Given the description of an element on the screen output the (x, y) to click on. 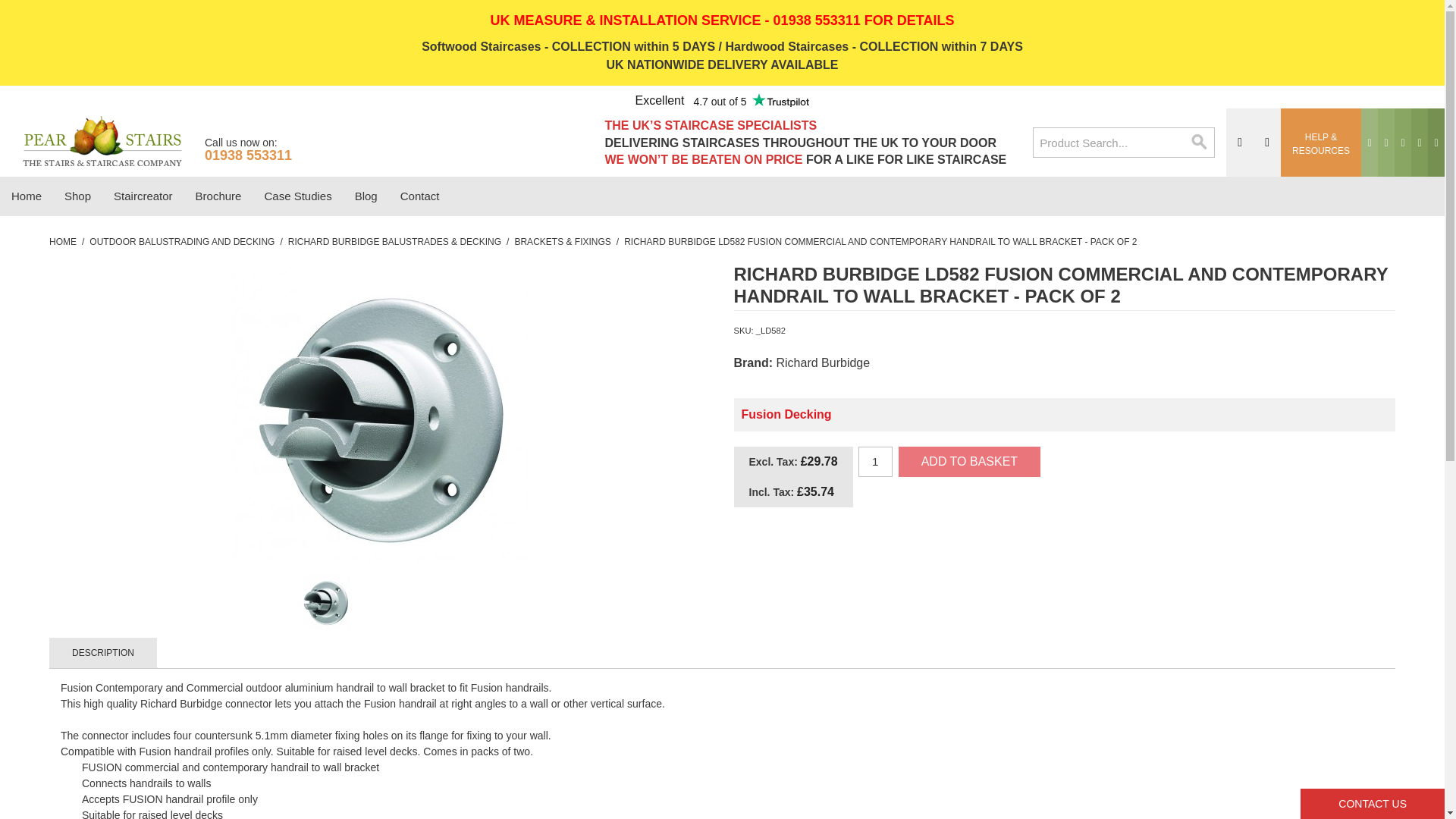
Shop (76, 196)
Qty (875, 461)
OUTDOOR BALUSTRADING AND DECKING (181, 241)
Blog (365, 196)
Go to Home Page (63, 241)
1 (875, 461)
Home (26, 196)
Fit and Measure (722, 20)
HOME (63, 241)
